Given the description of an element on the screen output the (x, y) to click on. 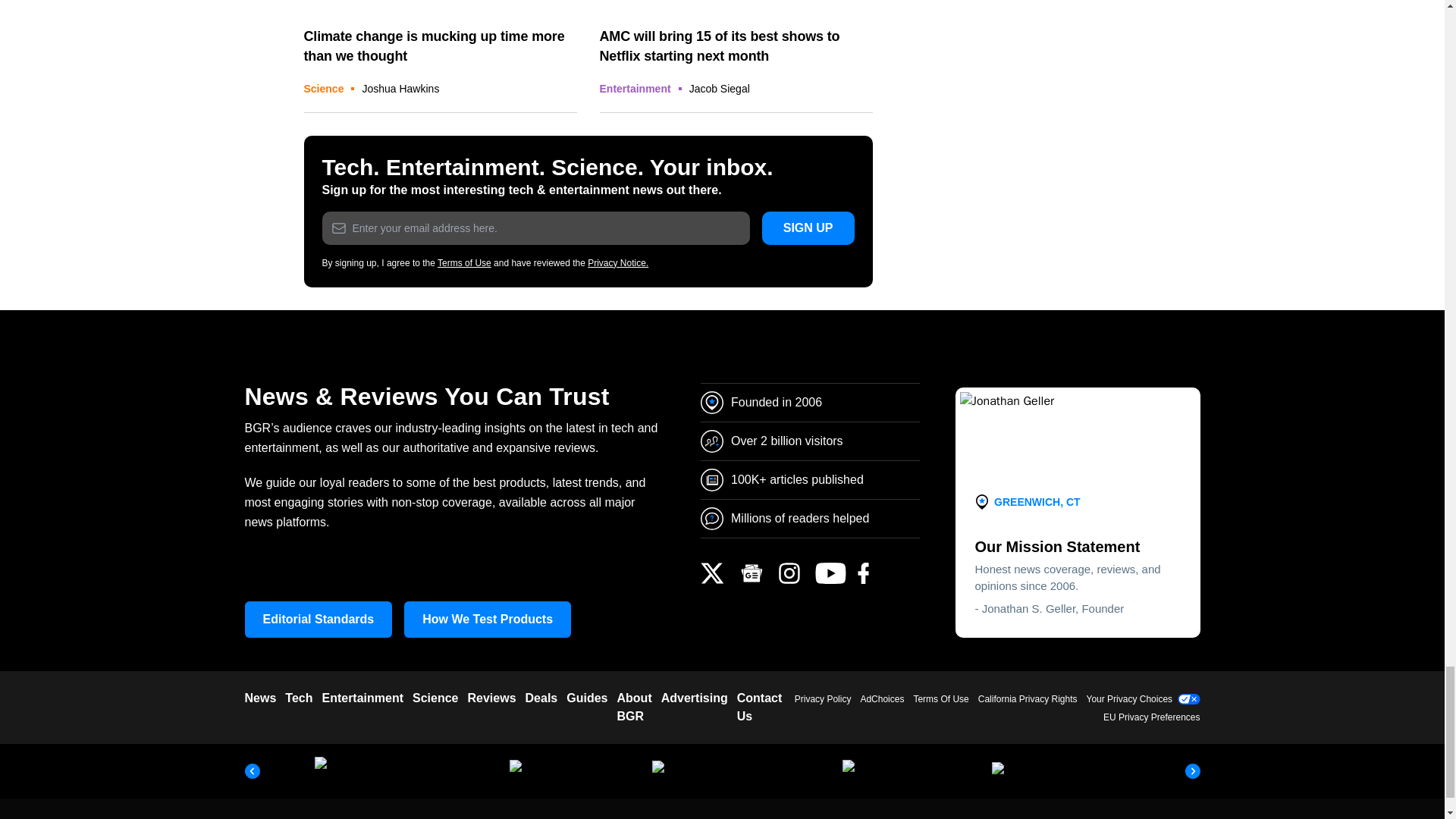
Posts by Joshua Hawkins (400, 88)
Posts by Jacob Siegal (718, 88)
climate change effect on time (439, 5)
AMC (735, 5)
